Given the description of an element on the screen output the (x, y) to click on. 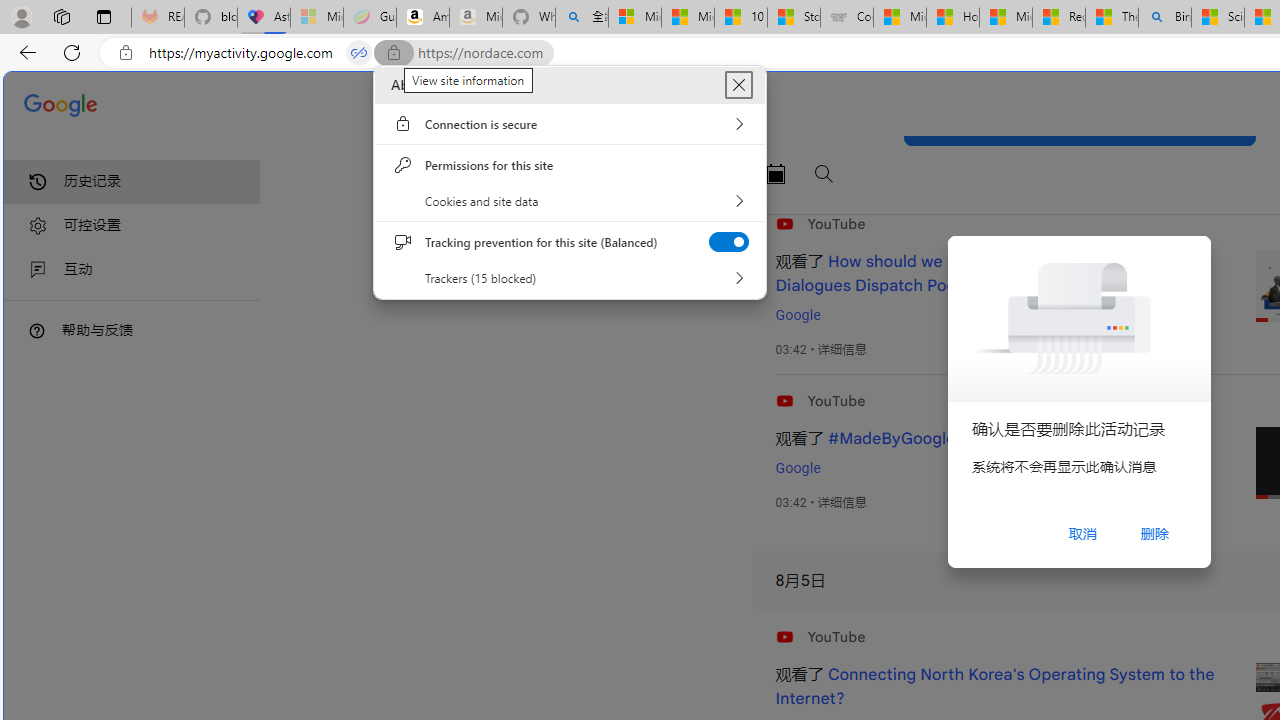
Stocks - MSN (794, 17)
Permissions for this site (570, 164)
Class: DTiKkd NMm5M (37, 330)
Microsoft Start (1005, 17)
Back (24, 52)
View site information (125, 53)
Workspaces (61, 16)
How I Got Rid of Microsoft Edge's Unnecessary Features (952, 17)
